Given the description of an element on the screen output the (x, y) to click on. 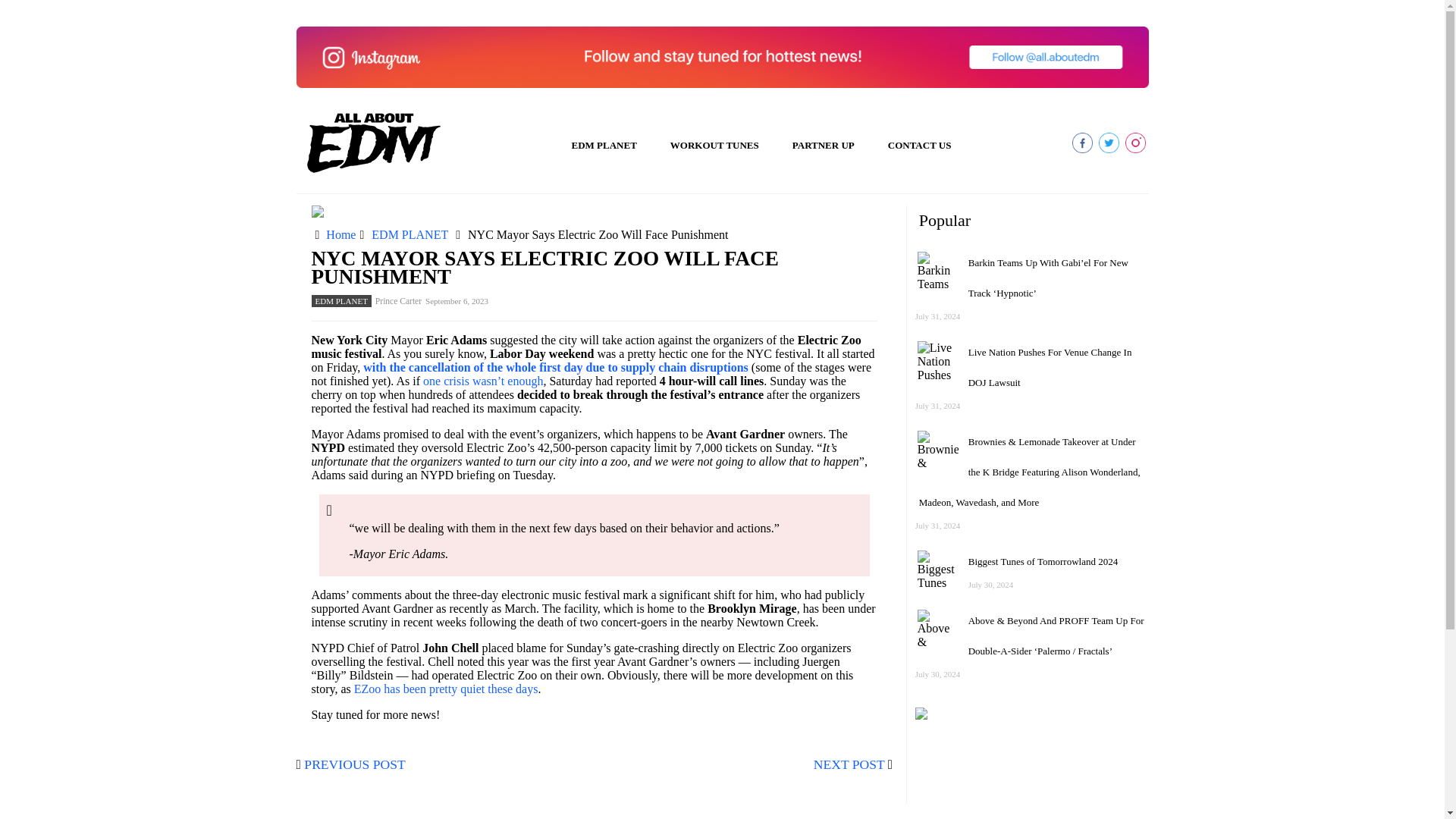
EDM PLANET (341, 733)
Spotify Makes Lyrics Free Again For Ad-Supported Accounts (1050, 456)
WORKOUT TUNES (714, 145)
Home (340, 666)
Palm Tree Music Festival Returns to Dana Point This October (1051, 367)
PARTNER UP (823, 145)
EDM PLANET (604, 145)
Prince Carter (398, 732)
CONTACT US (919, 145)
